Given the description of an element on the screen output the (x, y) to click on. 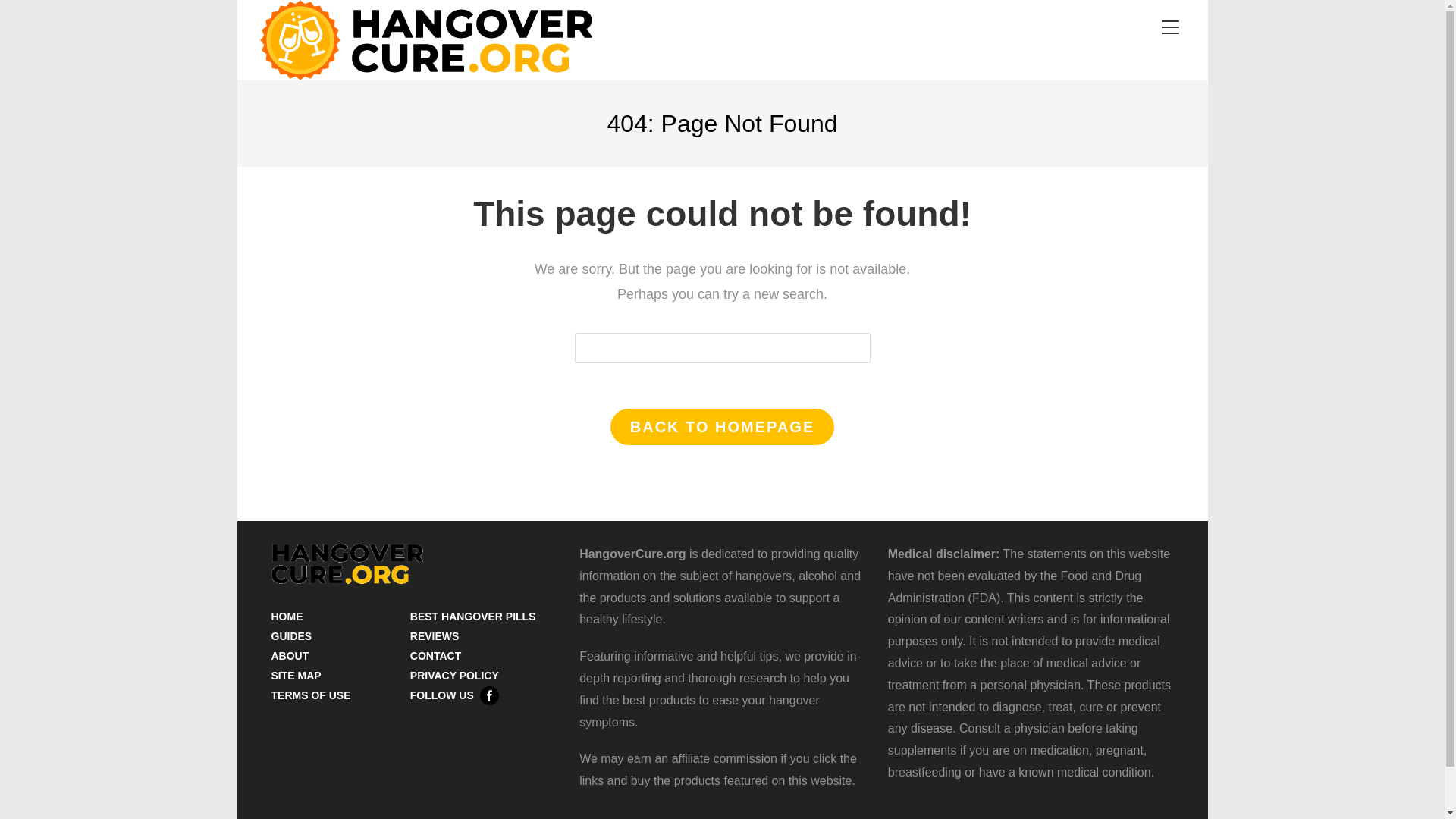
BEST HANGOVER PILLS (472, 616)
CONTACT (435, 655)
FOLLOW US (454, 695)
GUIDES (291, 635)
REVIEWS (435, 635)
HOME (286, 616)
TERMS OF USE (310, 695)
SITE MAP (295, 675)
BACK TO HOMEPAGE (722, 426)
ABOUT (289, 655)
PRIVACY POLICY (454, 675)
